Given the description of an element on the screen output the (x, y) to click on. 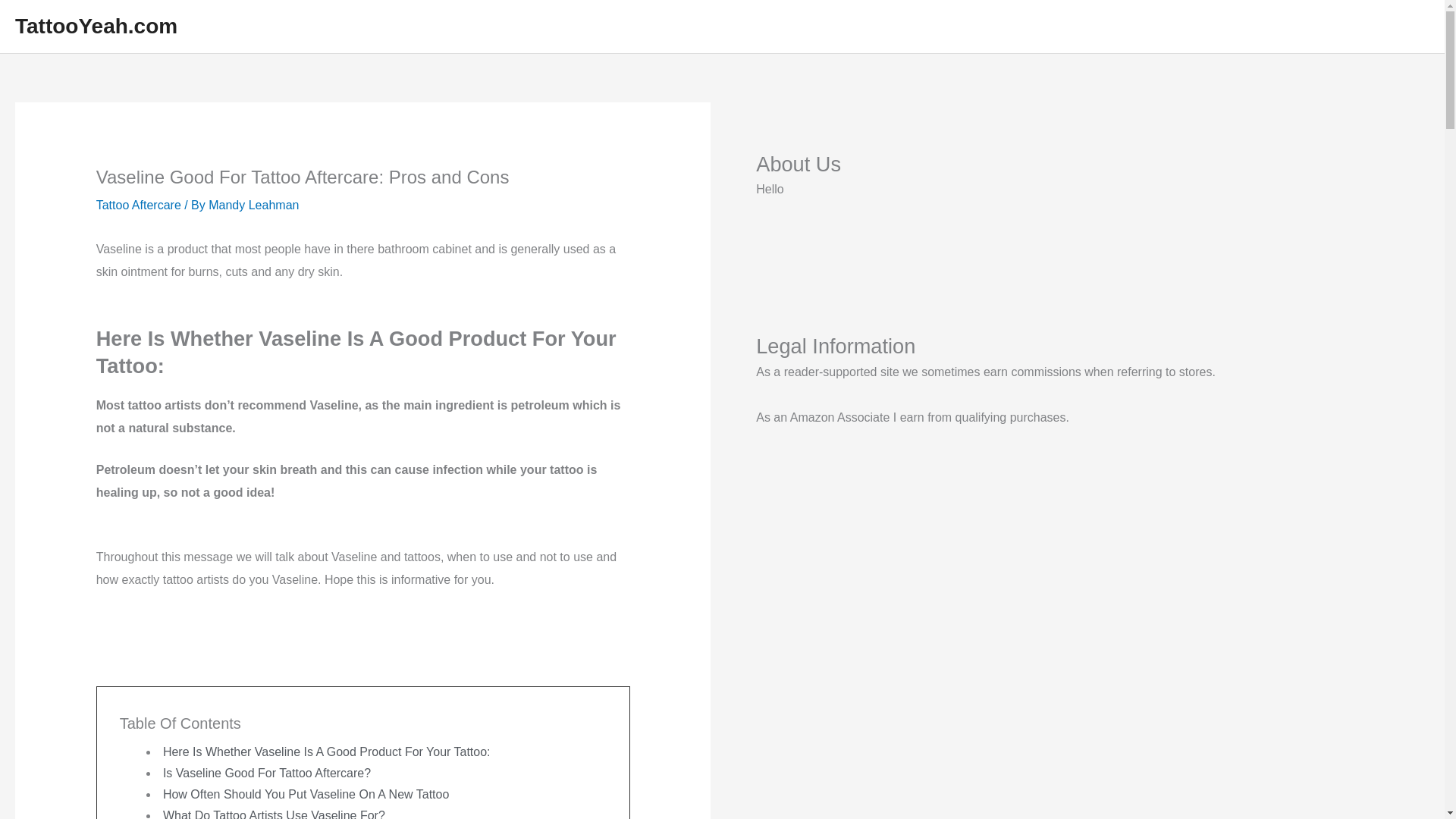
View all posts by Mandy Leahman (253, 205)
Tattoo Aftercare (138, 205)
Mandy Leahman (253, 205)
How Often Should You Put Vaseline On A New Tattoo (305, 793)
What Do Tattoo Artists Use Vaseline For? (274, 814)
Is Vaseline Good For Tattoo Aftercare? (267, 772)
TattooYeah.com (95, 25)
Here Is Whether Vaseline Is A Good Product For Your Tattoo: (326, 751)
